Given the description of an element on the screen output the (x, y) to click on. 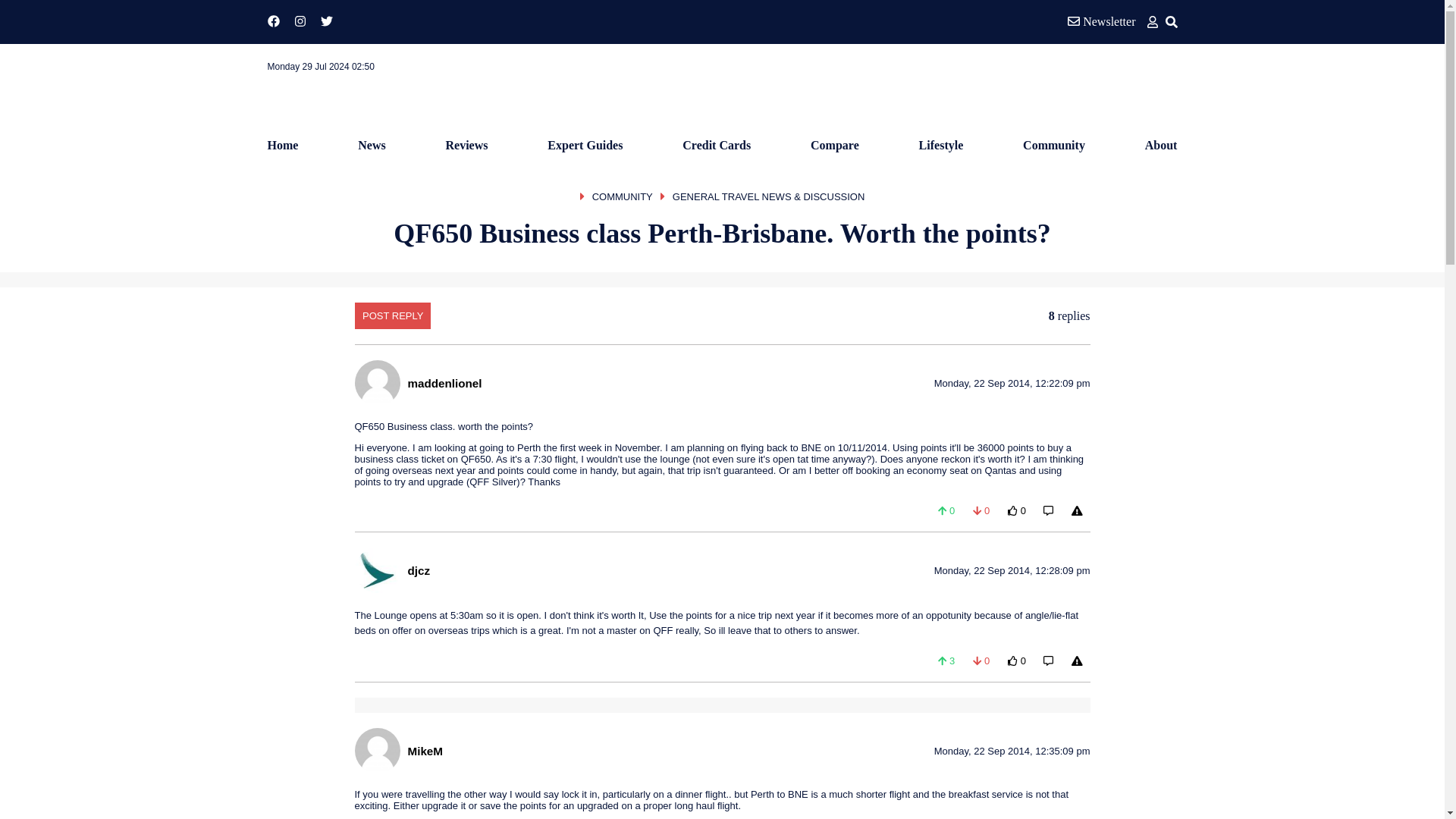
Like (946, 660)
Like (946, 510)
Reply with Quote (1048, 660)
Reply with Quote (1048, 510)
MikeM (424, 750)
Report this post (1077, 660)
djcz (418, 570)
Dislike (981, 660)
Thank djcz for this helpful post (1016, 660)
Thank maddenlionel for this helpful post (1016, 510)
maddenlionel (444, 382)
Report this post (1077, 510)
Dislike (981, 510)
